Given the description of an element on the screen output the (x, y) to click on. 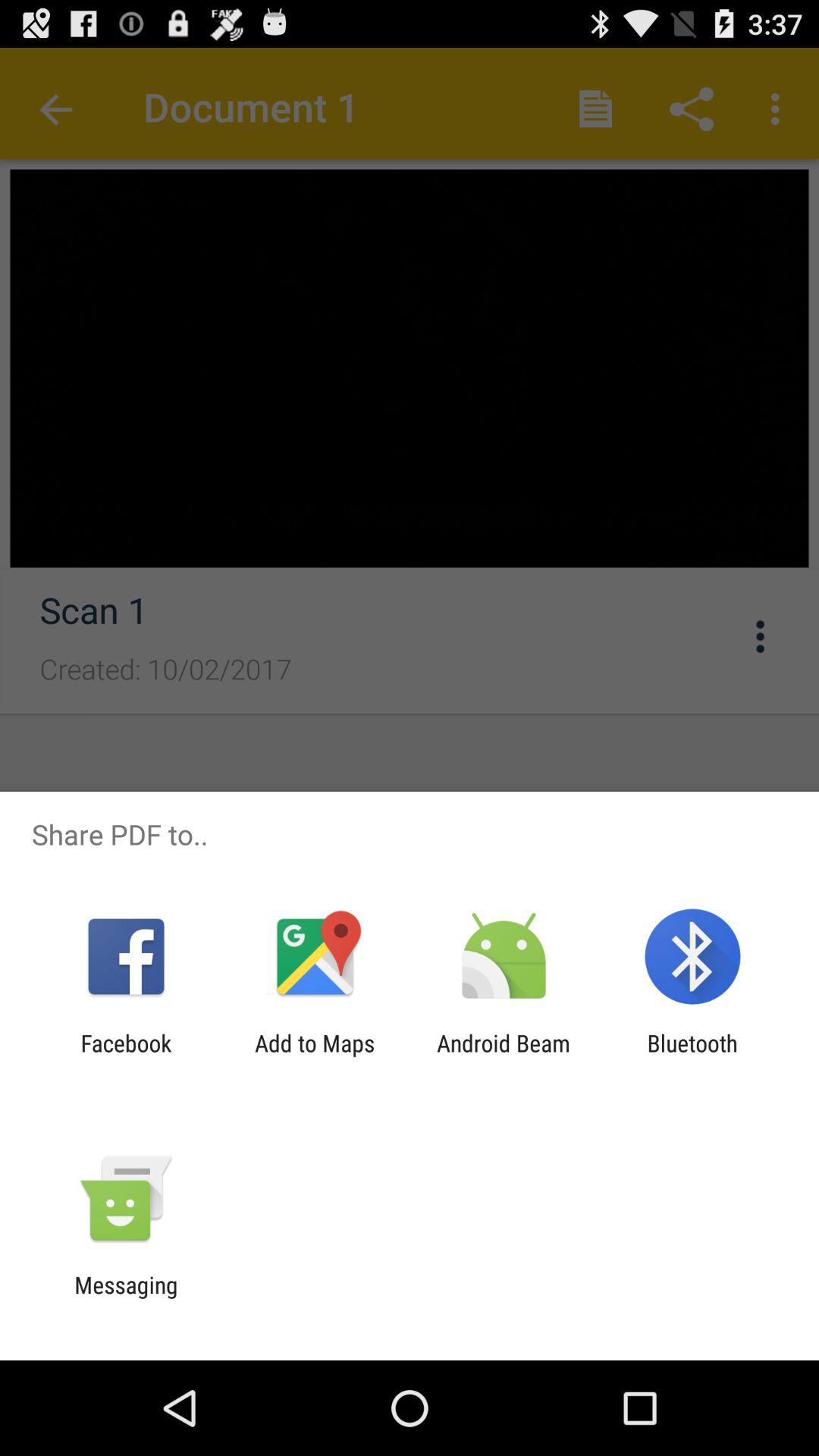
click add to maps (314, 1056)
